Given the description of an element on the screen output the (x, y) to click on. 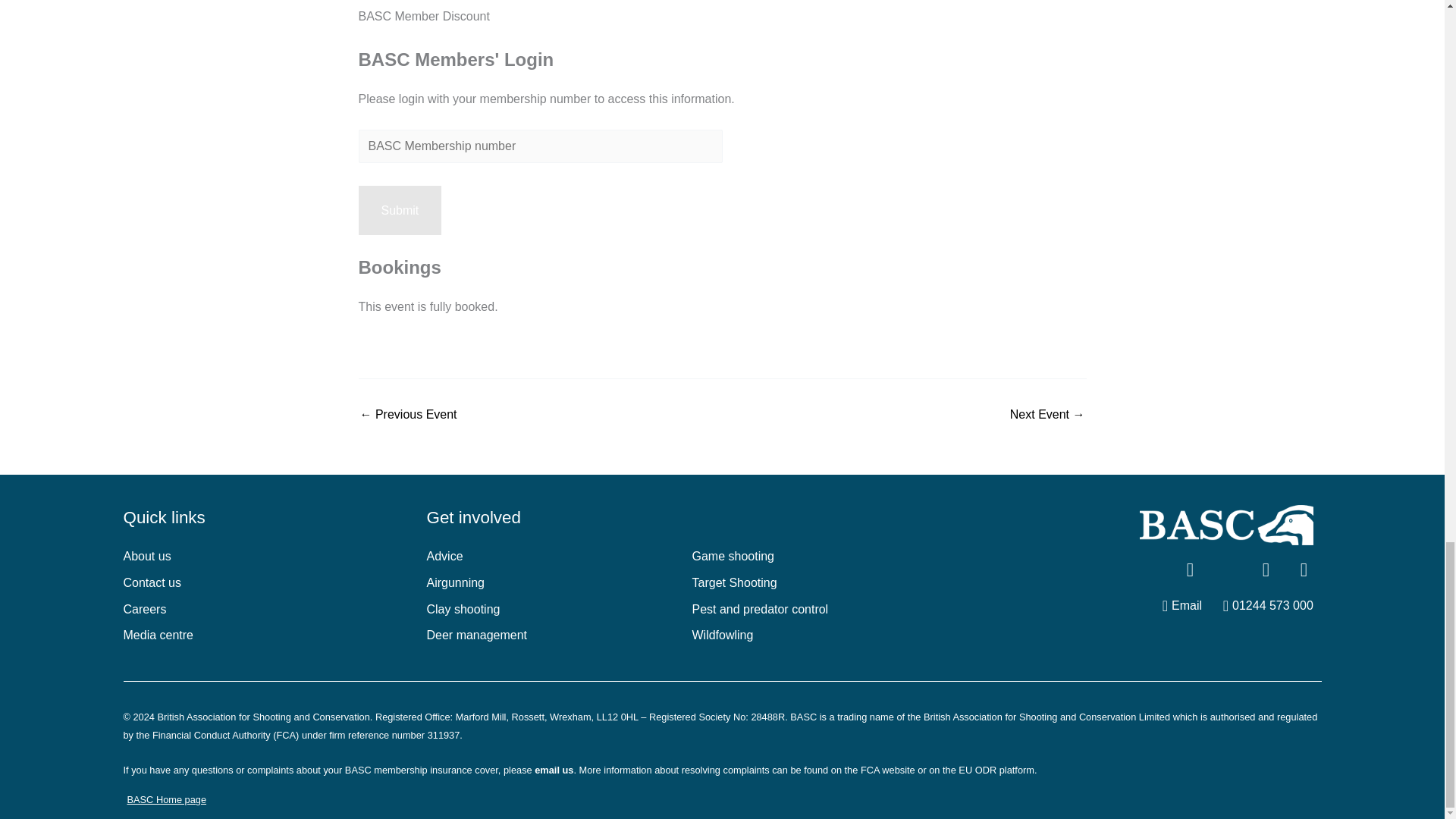
Submit (399, 210)
